Given the description of an element on the screen output the (x, y) to click on. 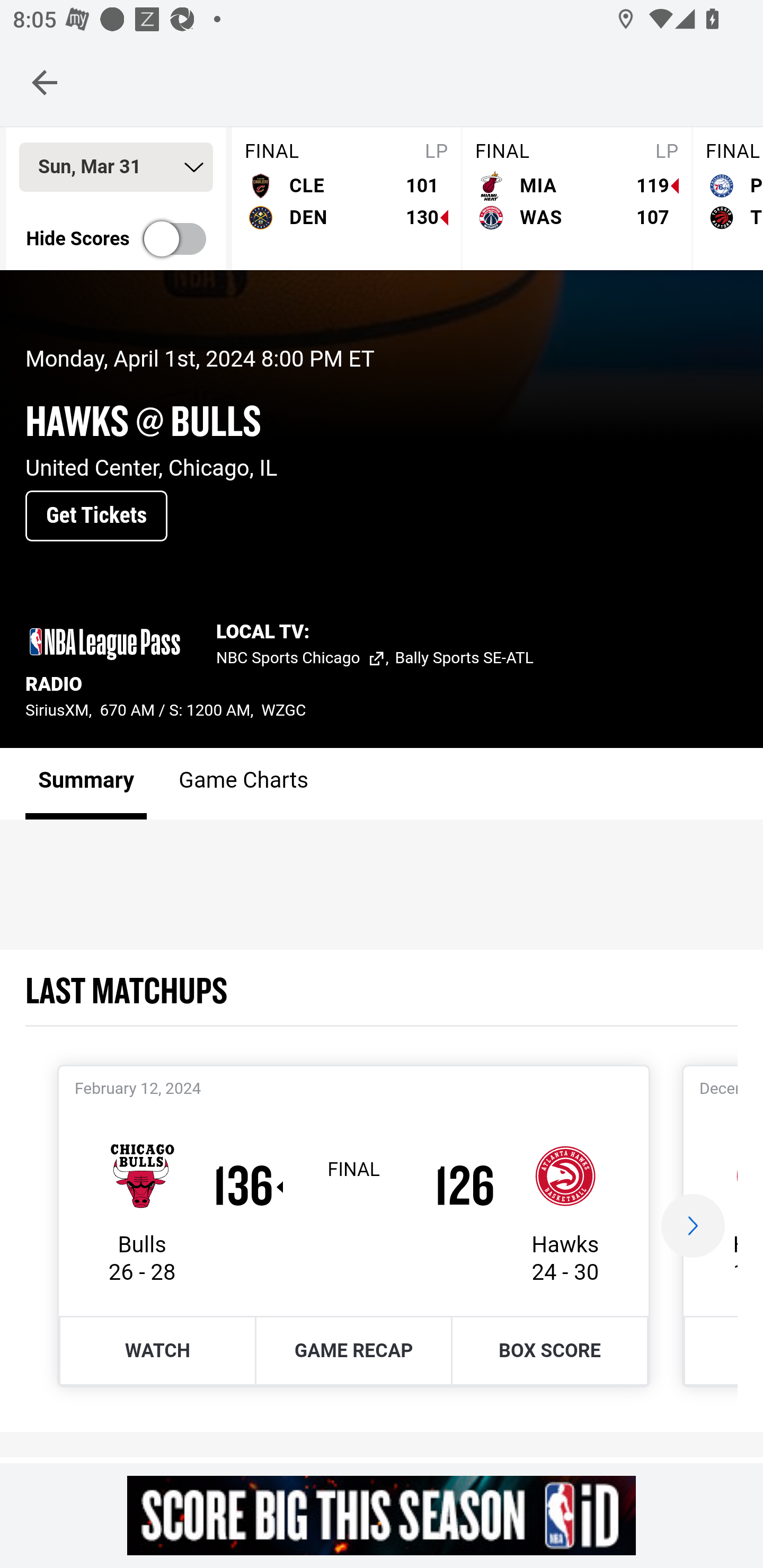
Navigate up (44, 82)
Sun, Mar 31 (115, 168)
Get Tickets (96, 516)
league-pass-stream (104, 644)
NBC Sports Chicago, NBC Sports Chicago , (305, 660)
SiriusXM, SiriusXM , (62, 710)
Summary Summary Summary (86, 783)
Game Charts Game Charts Game Charts (243, 783)
Carousel Button (692, 1226)
g5nqqygr7owph (381, 1515)
